Given the description of an element on the screen output the (x, y) to click on. 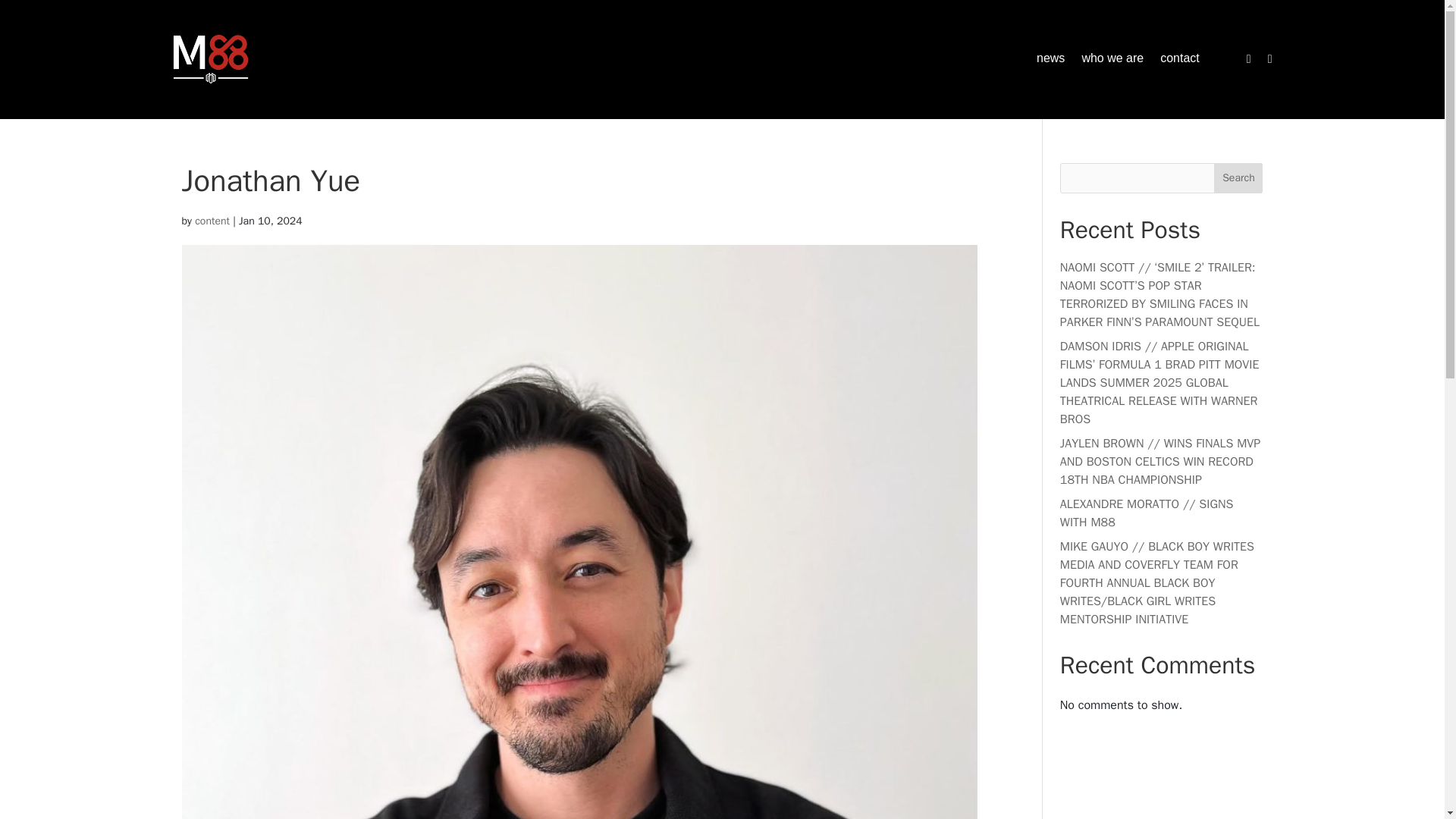
Search (1238, 177)
contact (1179, 62)
content (212, 220)
who we are (1111, 62)
news (1050, 62)
Posts by content (212, 220)
